Given the description of an element on the screen output the (x, y) to click on. 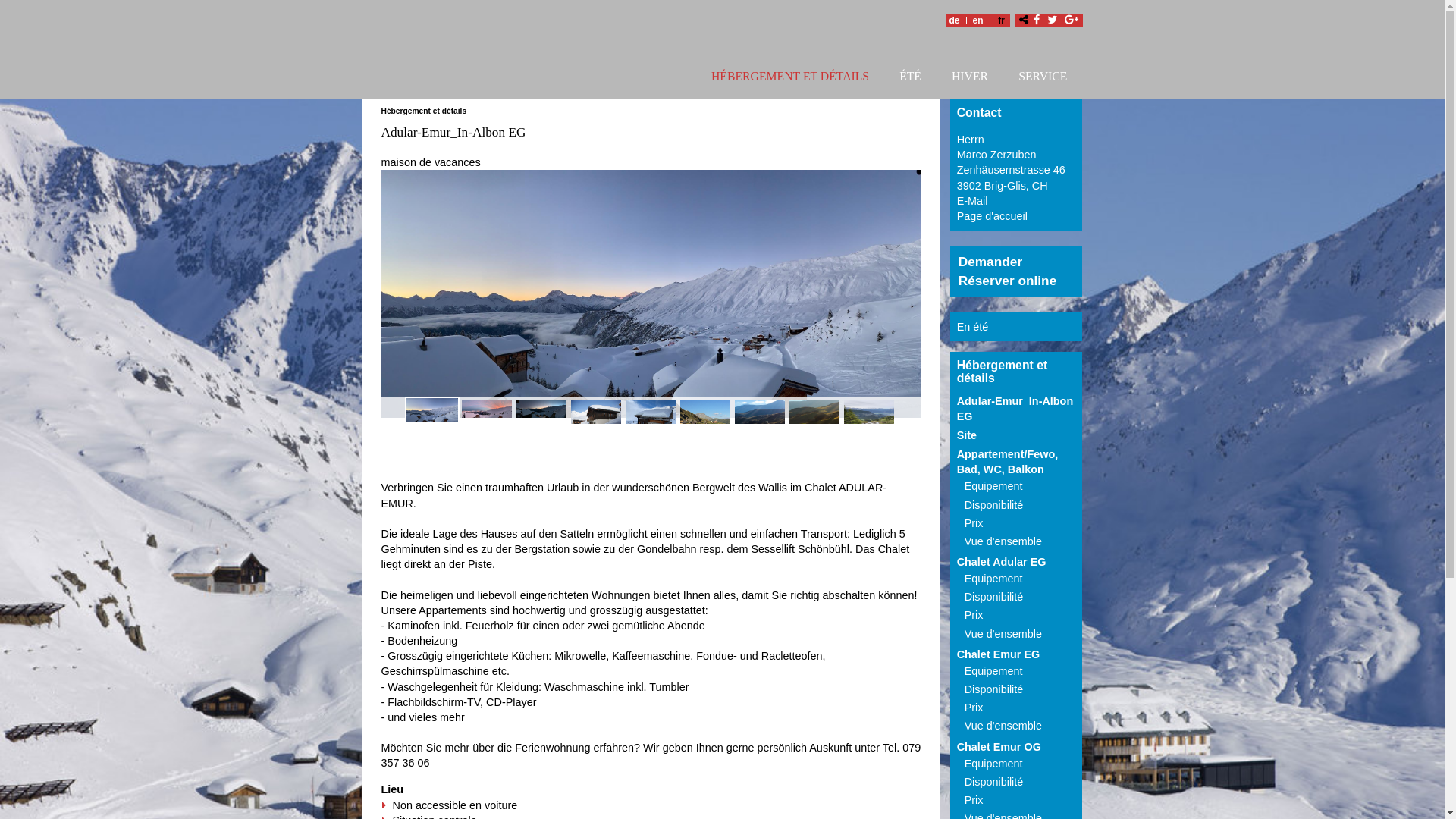
fr Element type: text (1001, 19)
Vue d'ensemble Element type: text (1002, 633)
Equipement Element type: text (993, 763)
Adular-Emur_In-Albon EG Element type: text (1015, 408)
E-Mail Element type: text (972, 200)
Page d'accueil Element type: text (992, 216)
Vue d'ensemble Element type: text (1002, 541)
en Element type: text (977, 19)
Equipement Element type: text (993, 578)
Vue d'ensemble Element type: text (1002, 725)
HIVER Element type: text (969, 78)
de Element type: text (954, 19)
Chalet Adular EG Element type: text (1001, 561)
Appartement/Fewo, Bad, WC, Balkon Element type: text (1007, 461)
Demander Element type: text (990, 261)
SERVICE Element type: text (1042, 78)
Prix Element type: text (973, 707)
Equipement Element type: text (993, 486)
Prix Element type: text (973, 523)
Chalet Emur OG Element type: text (999, 746)
Chalet Emur EG Element type: text (998, 654)
Equipement Element type: text (993, 671)
Prix Element type: text (973, 614)
Site Element type: text (966, 435)
Prix Element type: text (973, 799)
